Given the description of an element on the screen output the (x, y) to click on. 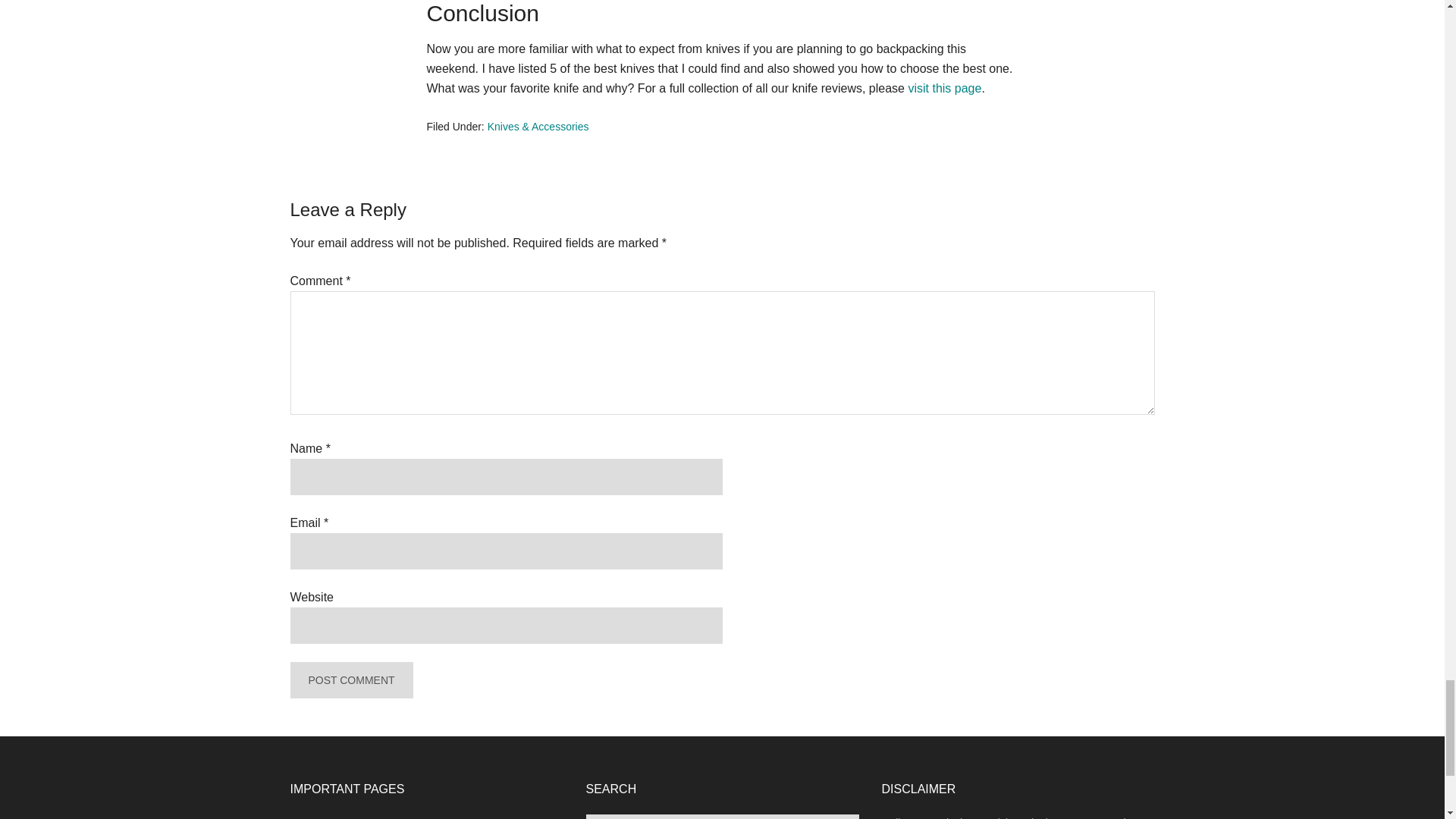
Post Comment (350, 679)
